Given the description of an element on the screen output the (x, y) to click on. 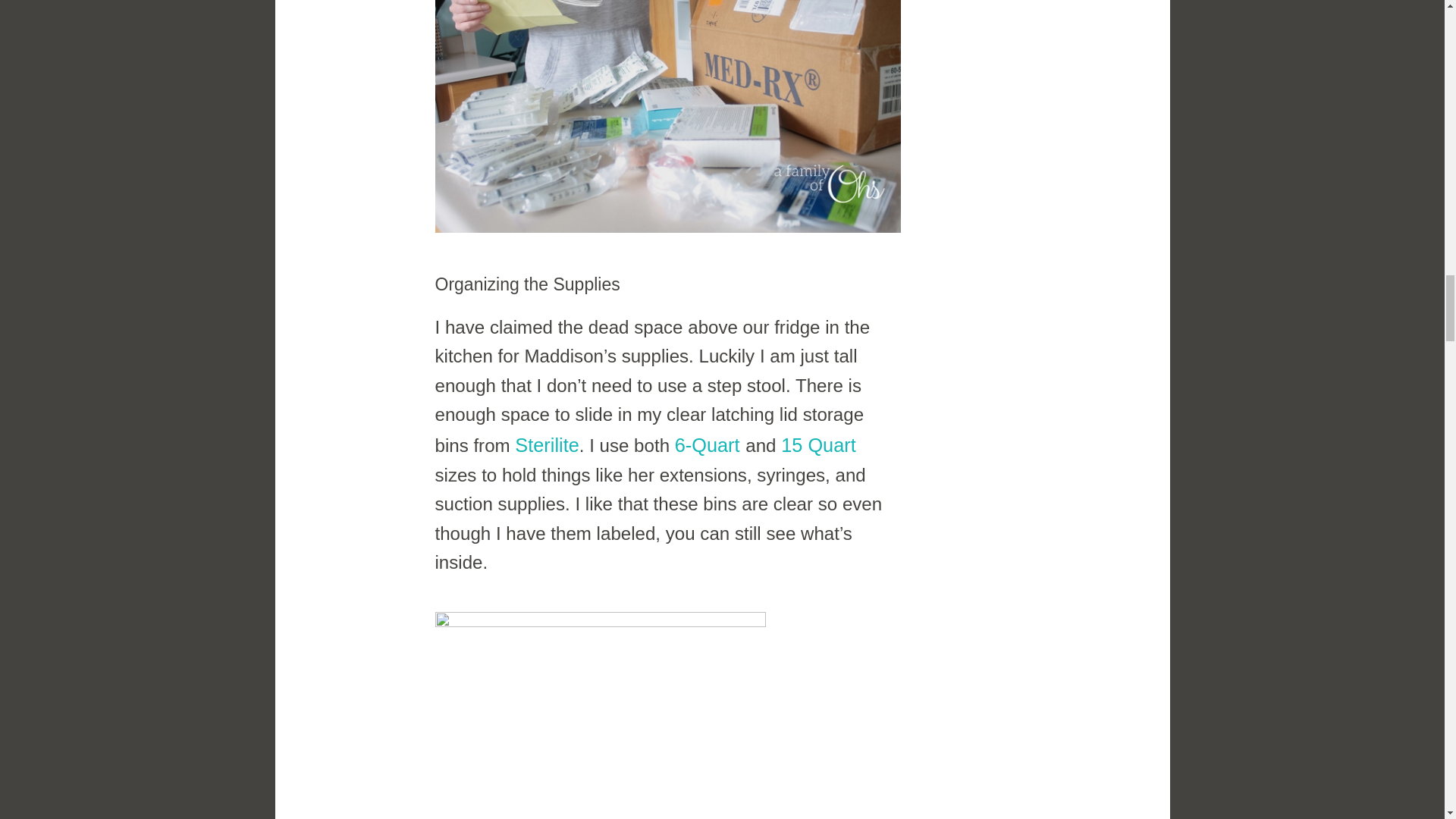
15 Quart (818, 444)
Sterilite (546, 444)
6-Quart (707, 444)
